Given the description of an element on the screen output the (x, y) to click on. 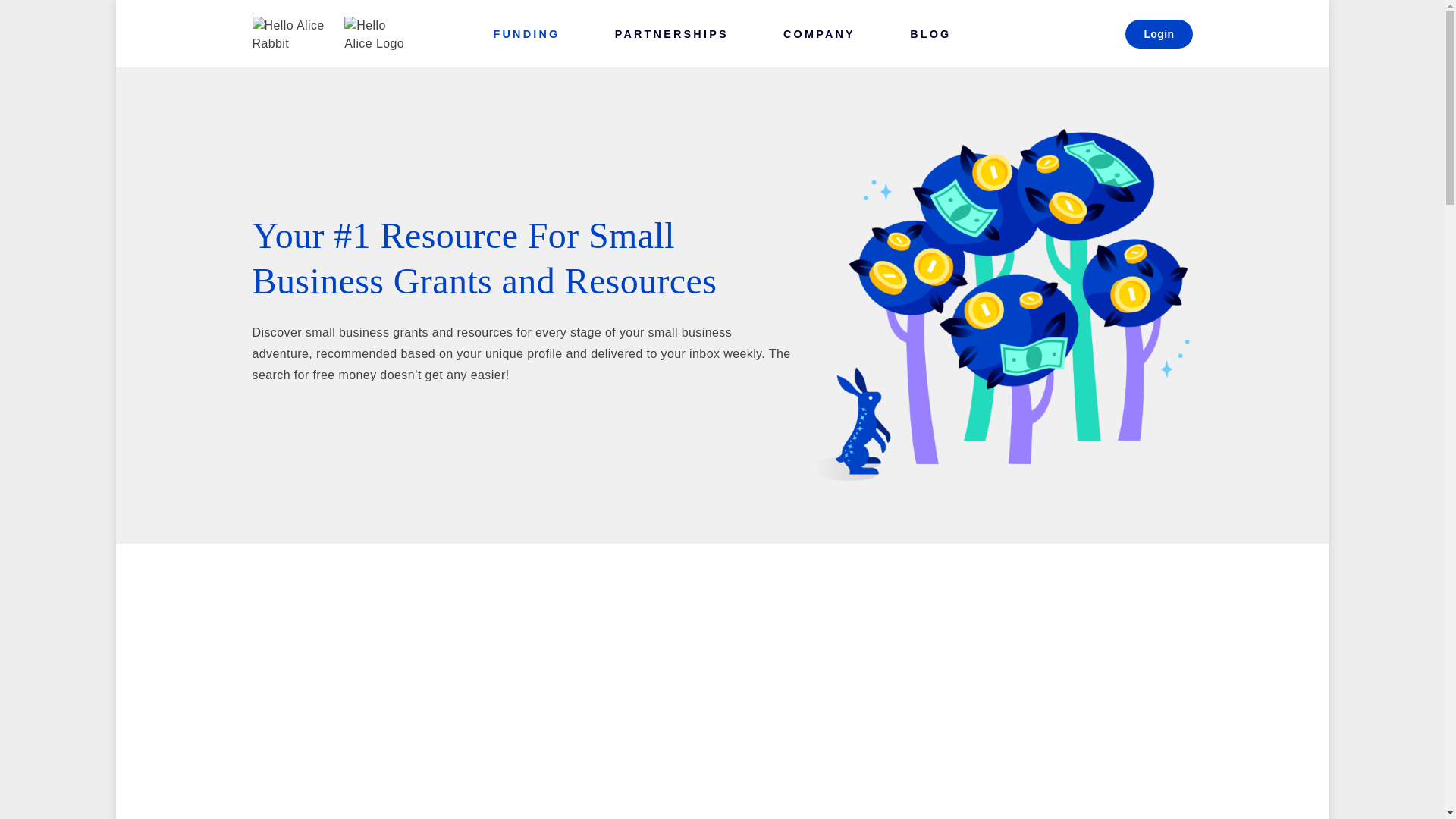
Login (1158, 33)
PARTNERSHIPS (671, 33)
BLOG (930, 33)
FUNDING (526, 33)
Return to homepage (330, 33)
COMPANY (819, 33)
